Given the description of an element on the screen output the (x, y) to click on. 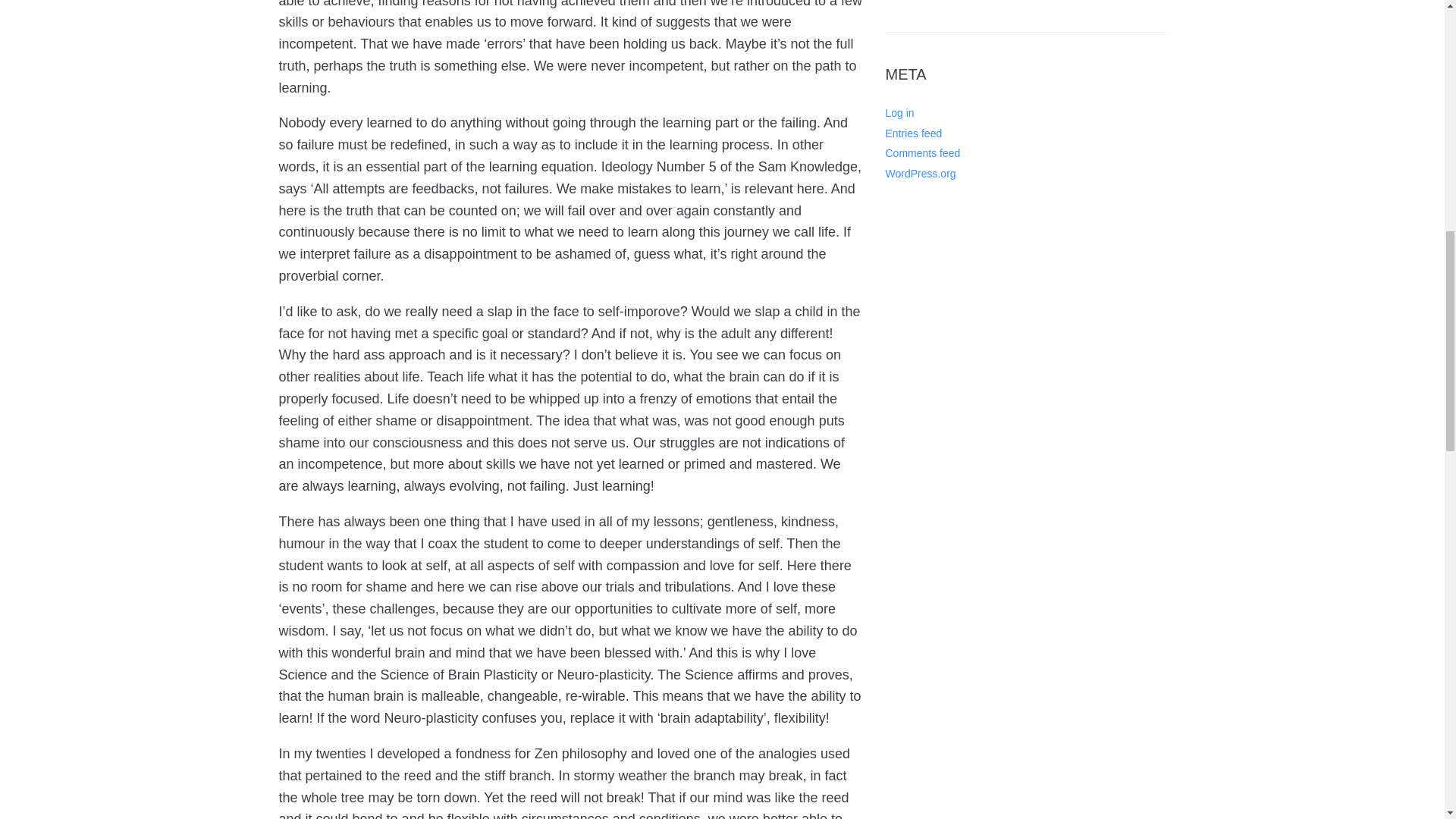
Log in (899, 112)
Entries feed (913, 133)
Comments feed (922, 152)
WordPress.org (920, 173)
